Given the description of an element on the screen output the (x, y) to click on. 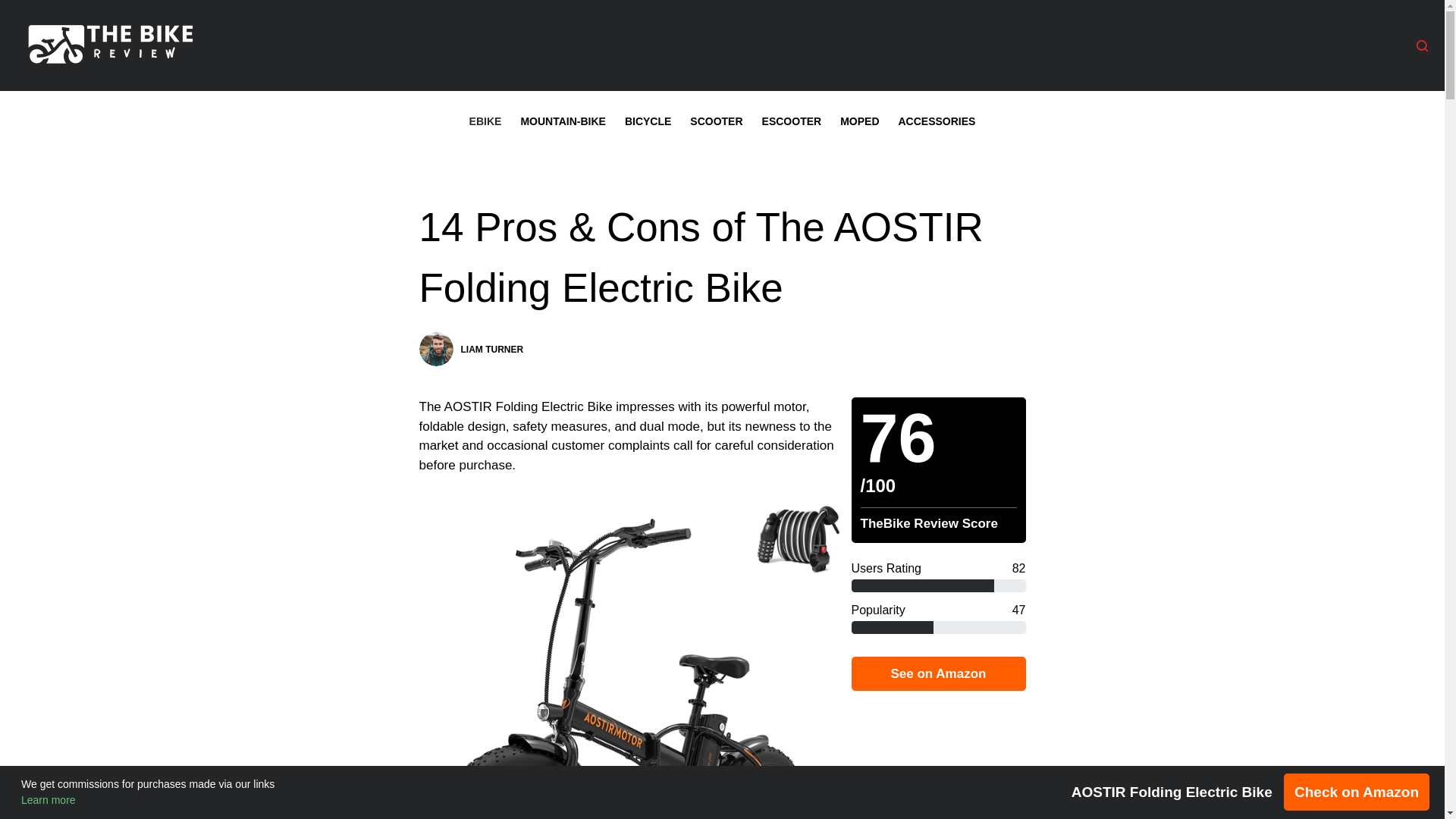
BICYCLE (646, 120)
MOPED (859, 120)
SCOOTER (716, 120)
MOUNTAIN-BIKE (563, 120)
LIAM TURNER (492, 348)
Learn more (48, 799)
See on Amazon (937, 673)
ESCOOTER (791, 120)
Check on Amazon (1356, 791)
ACCESSORIES (936, 120)
